Given the description of an element on the screen output the (x, y) to click on. 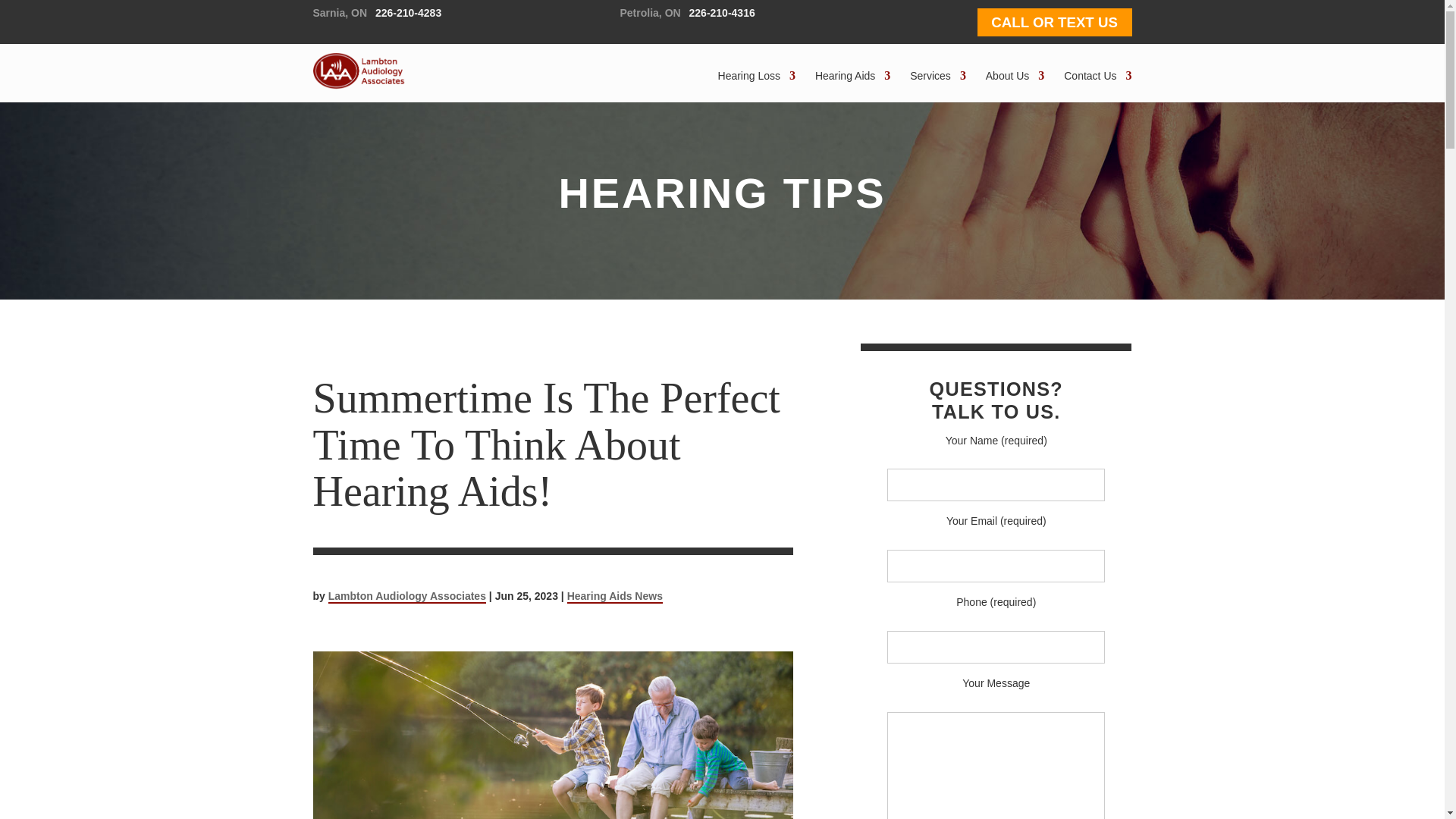
About Us (1015, 75)
Hearing Aids (852, 75)
Petrolia, ON (650, 12)
CALL OR TEXT US (1054, 21)
226-210-4316 (721, 12)
Posts by Lambton Audiology Associates (407, 596)
Lambton Audiology Associates (359, 73)
Sarnia, ON (339, 12)
226-210-4283 (408, 12)
Services (938, 75)
Contact Us (1097, 75)
Hearing Loss (756, 75)
